Given the description of an element on the screen output the (x, y) to click on. 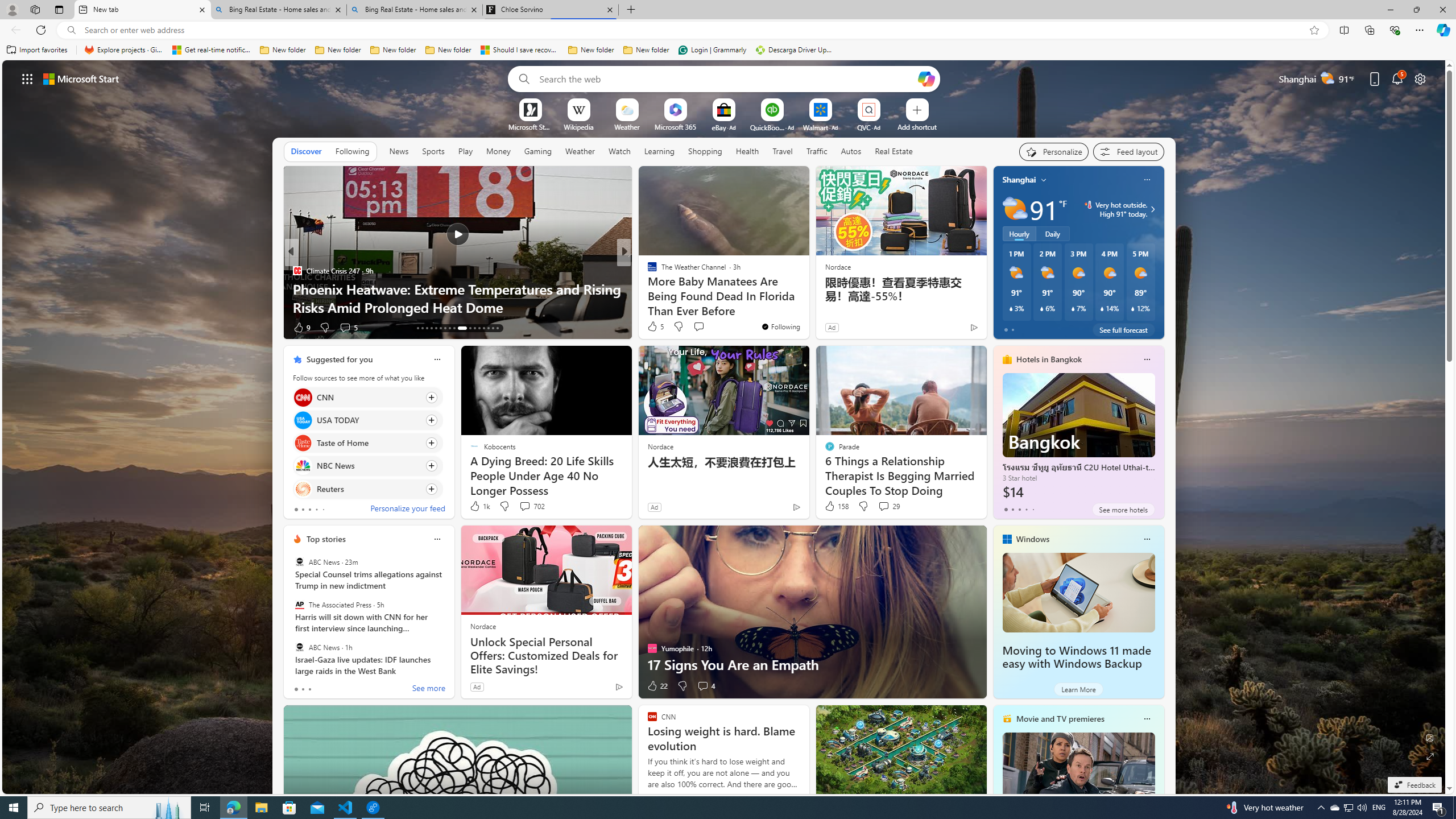
16 Like (652, 327)
AutomationID: tab-17 (435, 328)
Hourly (1018, 233)
Click to follow source Reuters (367, 488)
Don't Use an Ordinary Backpack (807, 307)
Shanghai (1018, 179)
22 Like (657, 685)
View comments 6 Comment (705, 327)
